Given the description of an element on the screen output the (x, y) to click on. 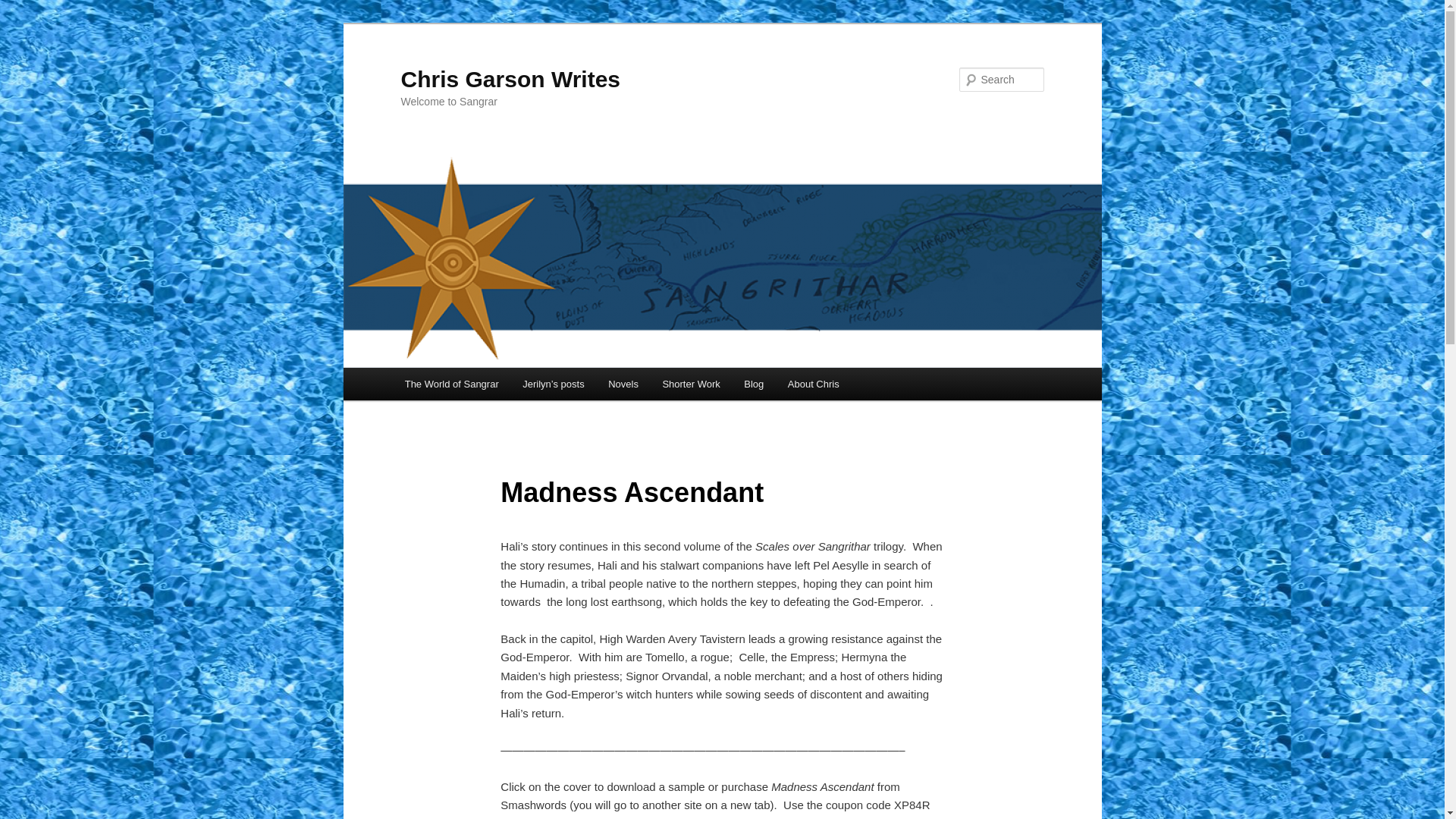
Search (24, 8)
Chris Garson Writes (510, 78)
The World of Sangrar (452, 383)
